Given the description of an element on the screen output the (x, y) to click on. 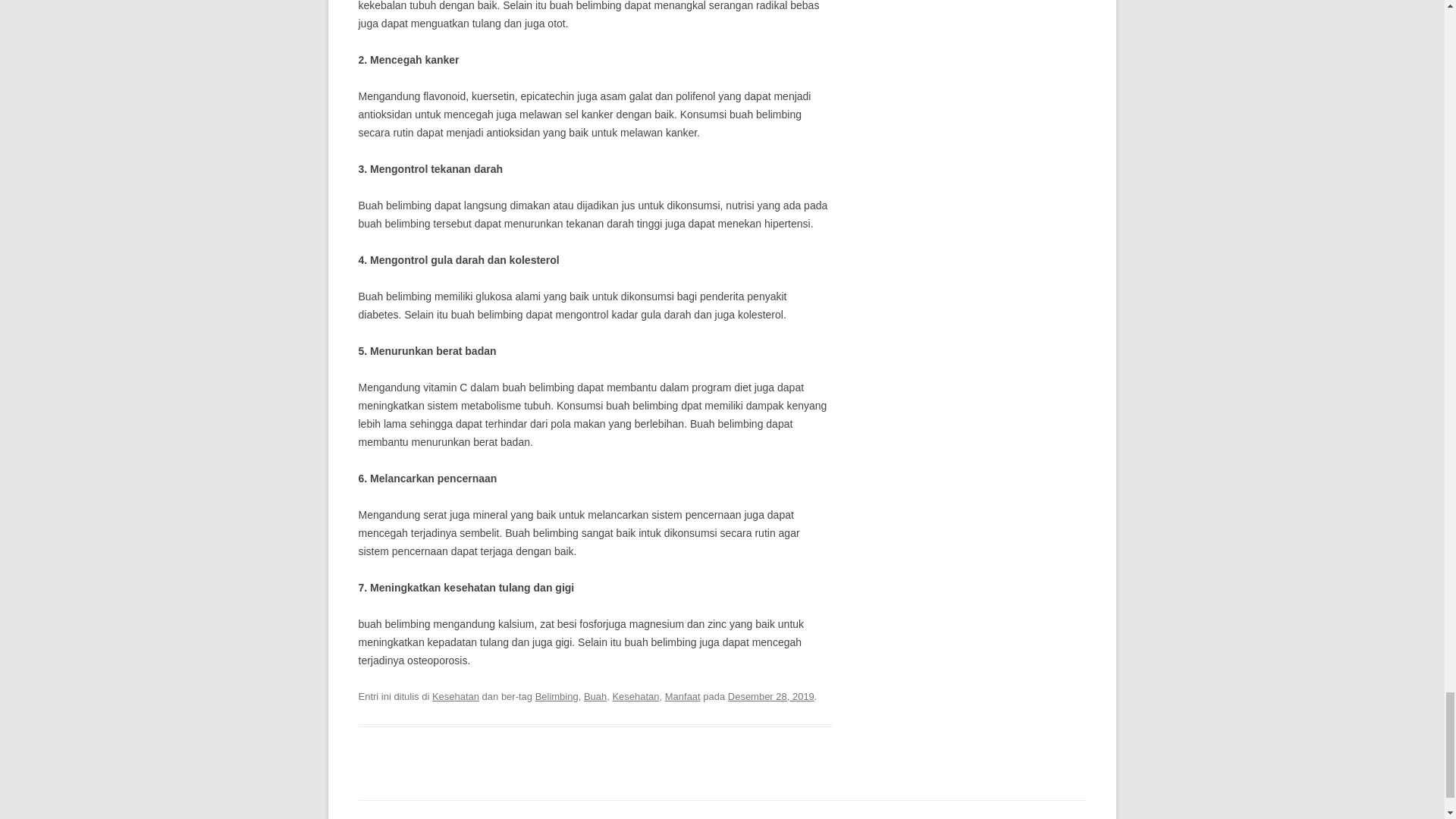
6:10 pm (770, 696)
Belimbing (556, 696)
Buah (595, 696)
Kesehatan (635, 696)
Kesehatan (455, 696)
